Given the description of an element on the screen output the (x, y) to click on. 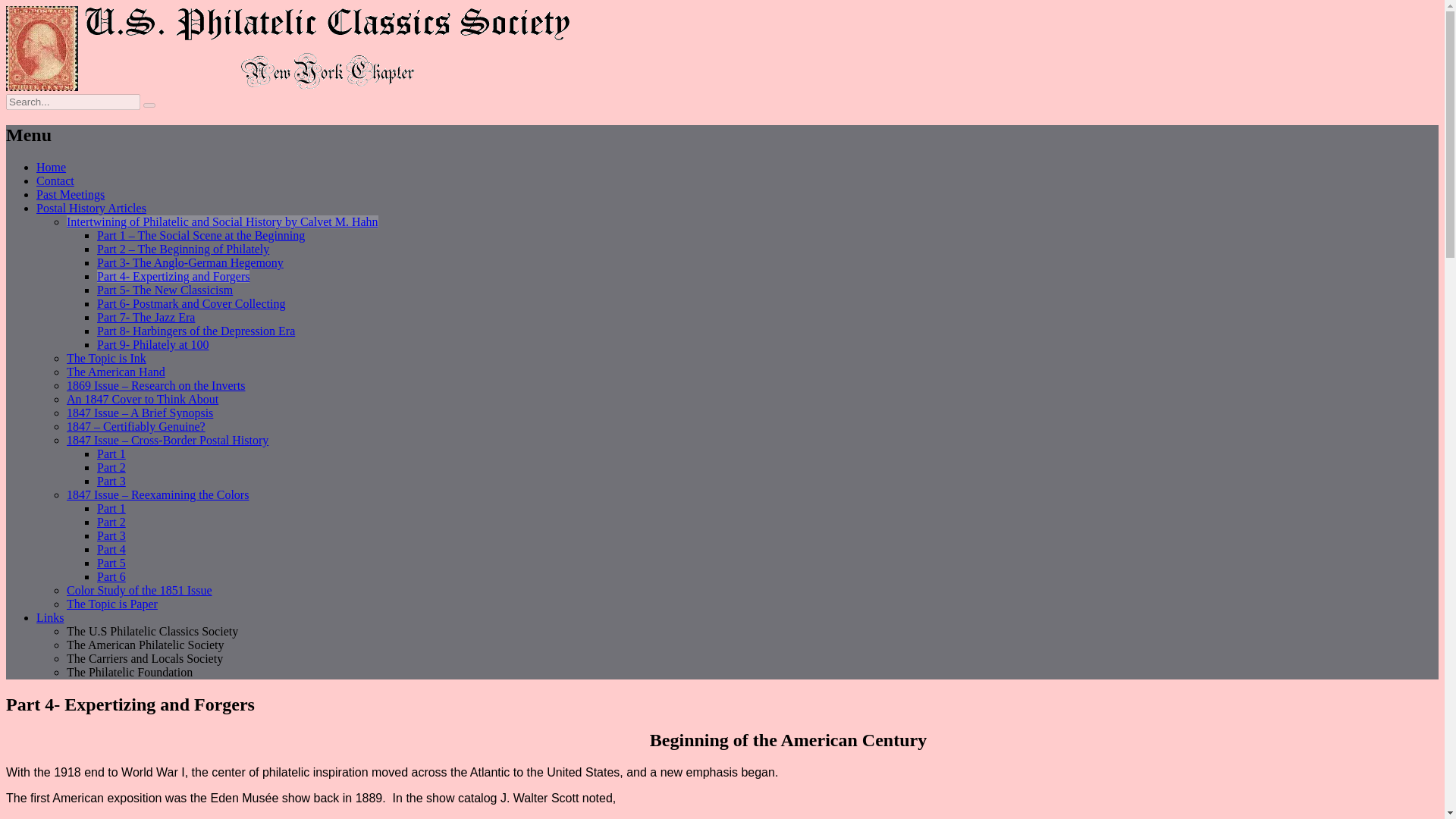
Part 5- The New Classicism (164, 289)
The Topic is Ink (106, 358)
Home (50, 166)
Part 3- The Anglo-German Hegemony (190, 262)
Part 2 (111, 521)
Contact (55, 180)
Part 4- Expertizing and Forgers (172, 276)
Part 4 (111, 549)
An 1847 Cover to Think About (142, 399)
Color Study of the 1851 Issue (139, 590)
Past Meetings (70, 194)
Part 8- Harbingers of the Depression Era (196, 330)
Part 6- Postmark and Cover Collecting (191, 303)
Part 7- The Jazz Era (146, 317)
